Given the description of an element on the screen output the (x, y) to click on. 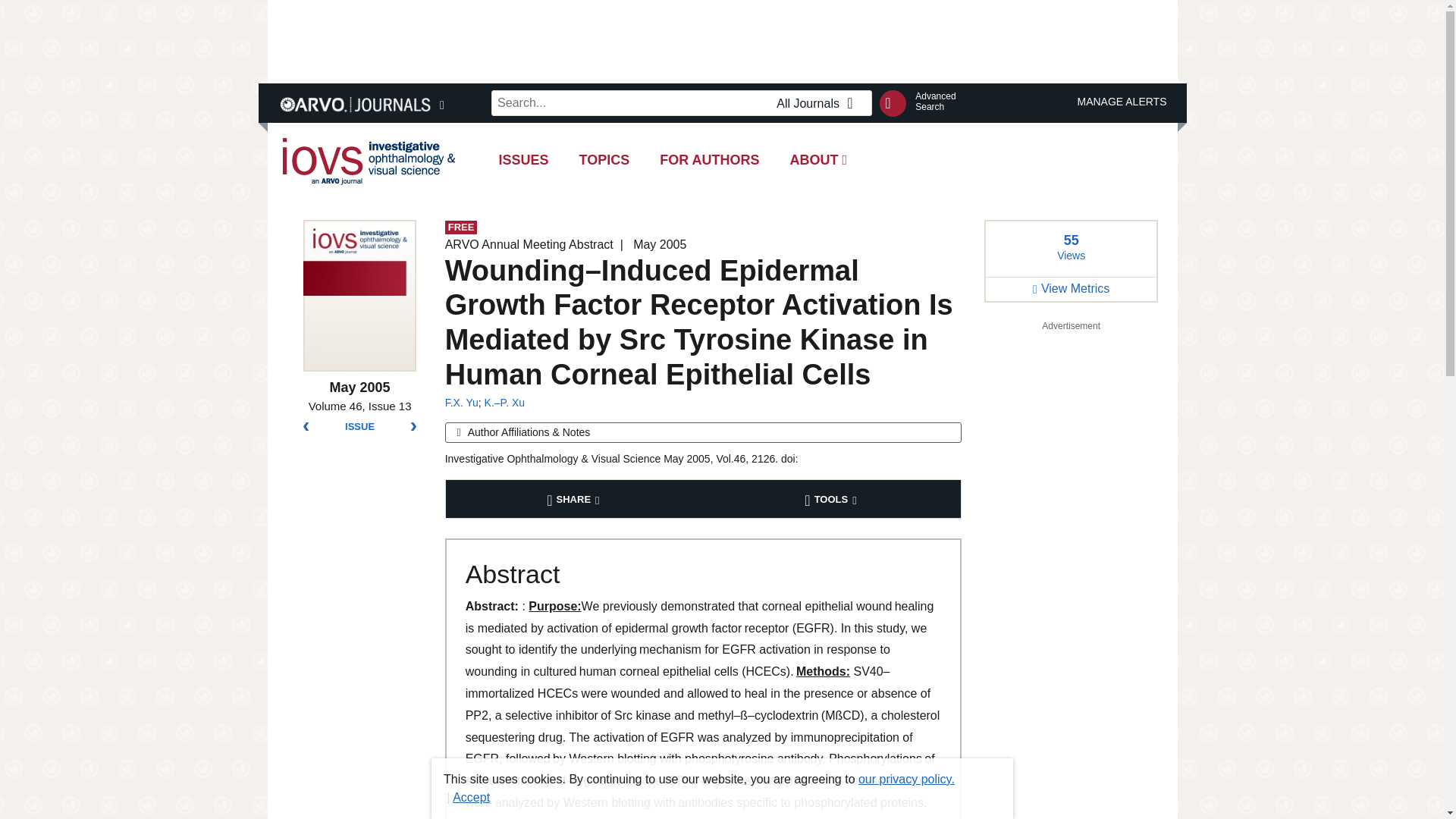
All Journals (819, 103)
3rd party ad content (935, 101)
ABOUT (721, 41)
ISSUES (818, 160)
FOR AUTHORS (523, 160)
F.X. Yu (709, 160)
TOPICS (462, 402)
SHARE (604, 160)
ISSUE (574, 498)
